Given the description of an element on the screen output the (x, y) to click on. 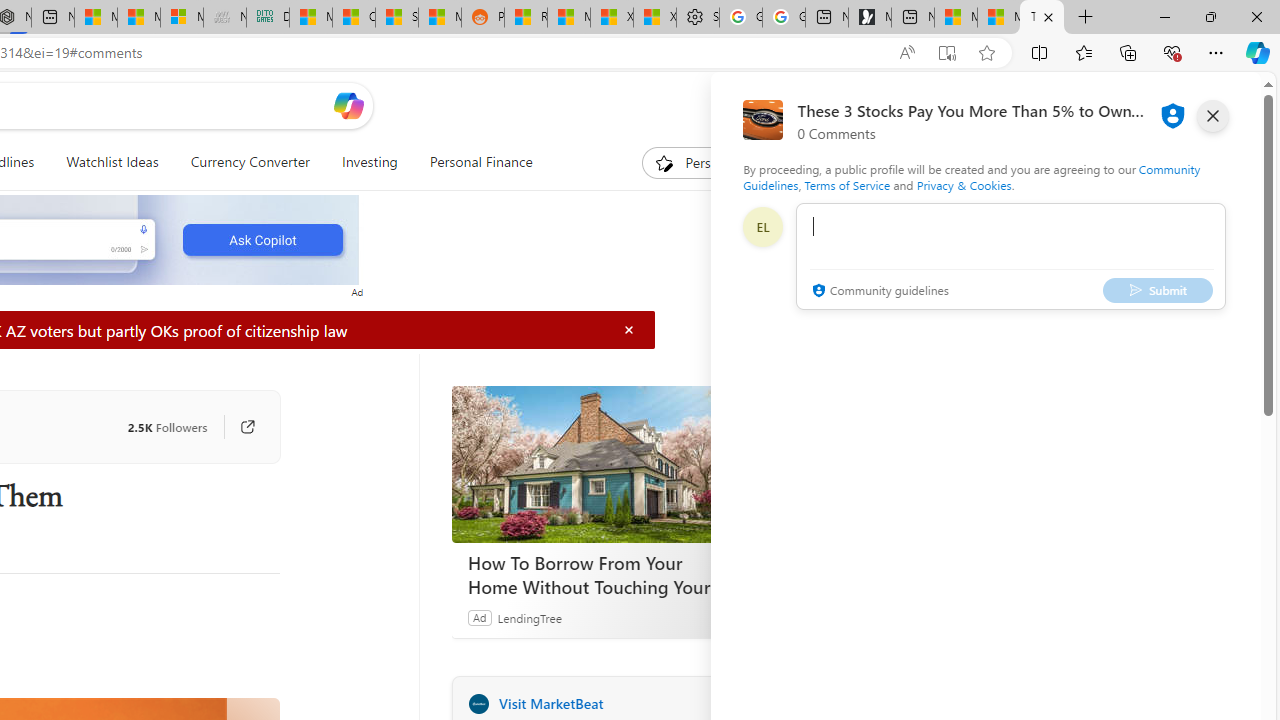
Submit (1158, 290)
close (1212, 115)
Profile Picture (762, 226)
Community Guidelines (971, 176)
MarketBeat (478, 703)
LendingTree (528, 617)
